Given the description of an element on the screen output the (x, y) to click on. 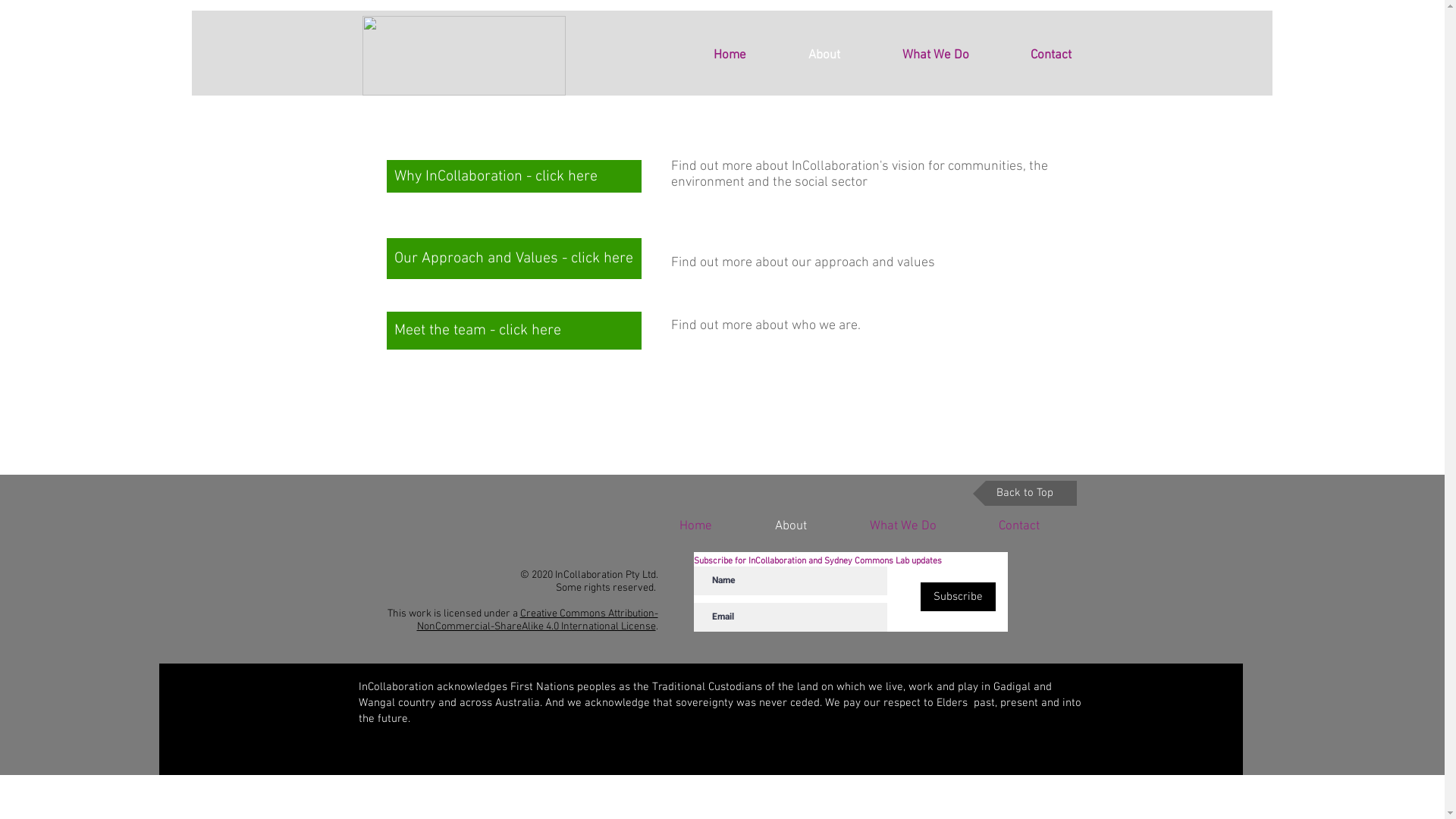
What We Do Element type: text (902, 525)
Our Approach and Values - click here Element type: text (513, 258)
Back to Top Element type: text (1024, 492)
Home Element type: text (729, 55)
Contact Element type: text (1050, 55)
Why InCollaboration - click here Element type: text (513, 176)
Subscribe Element type: text (957, 596)
About Element type: text (823, 55)
About Element type: text (790, 525)
Home Element type: text (695, 525)
Contact Element type: text (1018, 525)
What We Do Element type: text (934, 55)
Web Logo - Pale Grey Background_edited.png Element type: hover (463, 55)
Site Search Element type: hover (1186, 34)
Meet the team - click here Element type: text (513, 330)
